Given the description of an element on the screen output the (x, y) to click on. 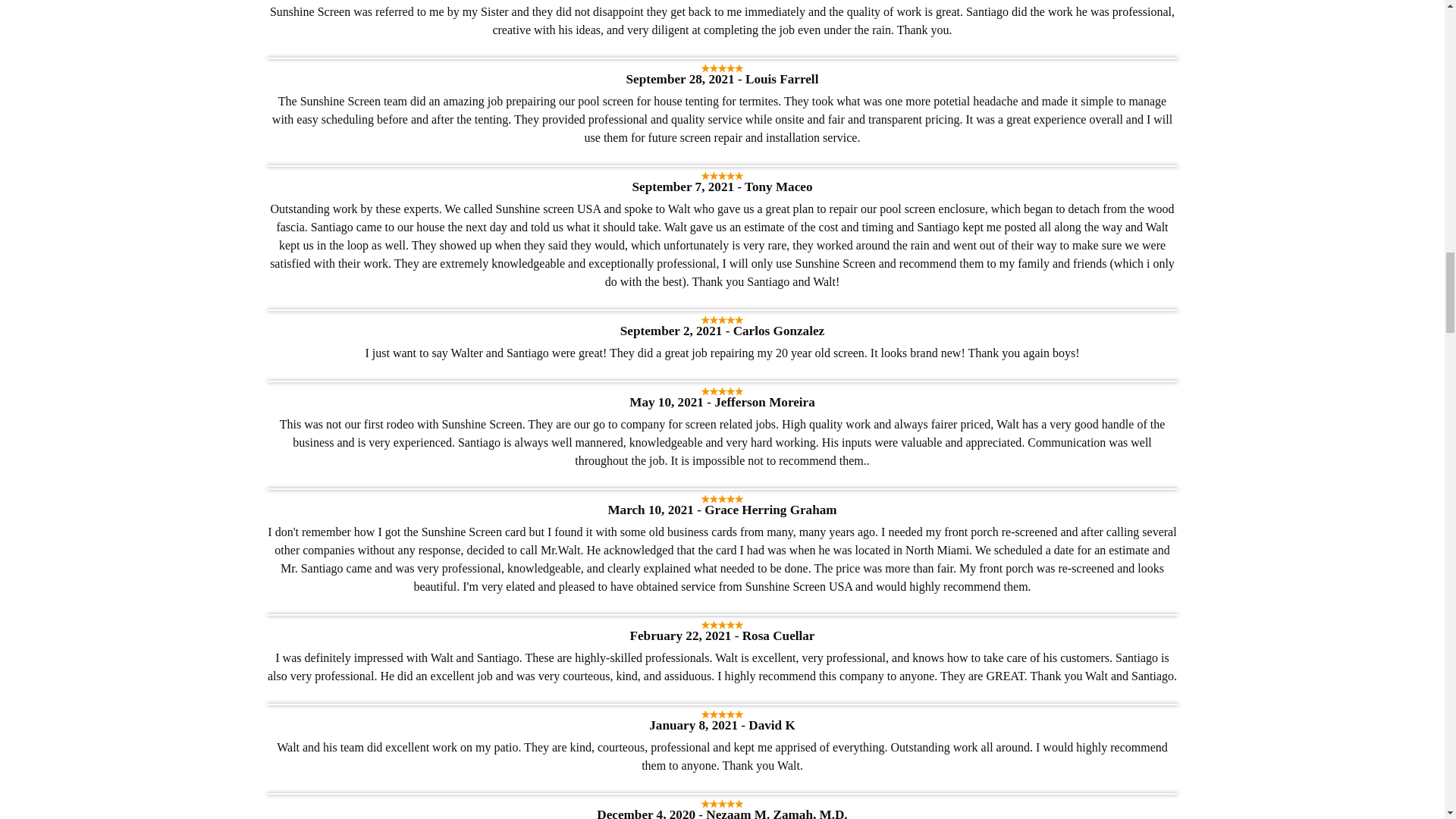
5 Stars (721, 175)
5 Stars (721, 68)
5 Stars (721, 320)
5 Stars (721, 499)
5 Stars (721, 391)
